Given the description of an element on the screen output the (x, y) to click on. 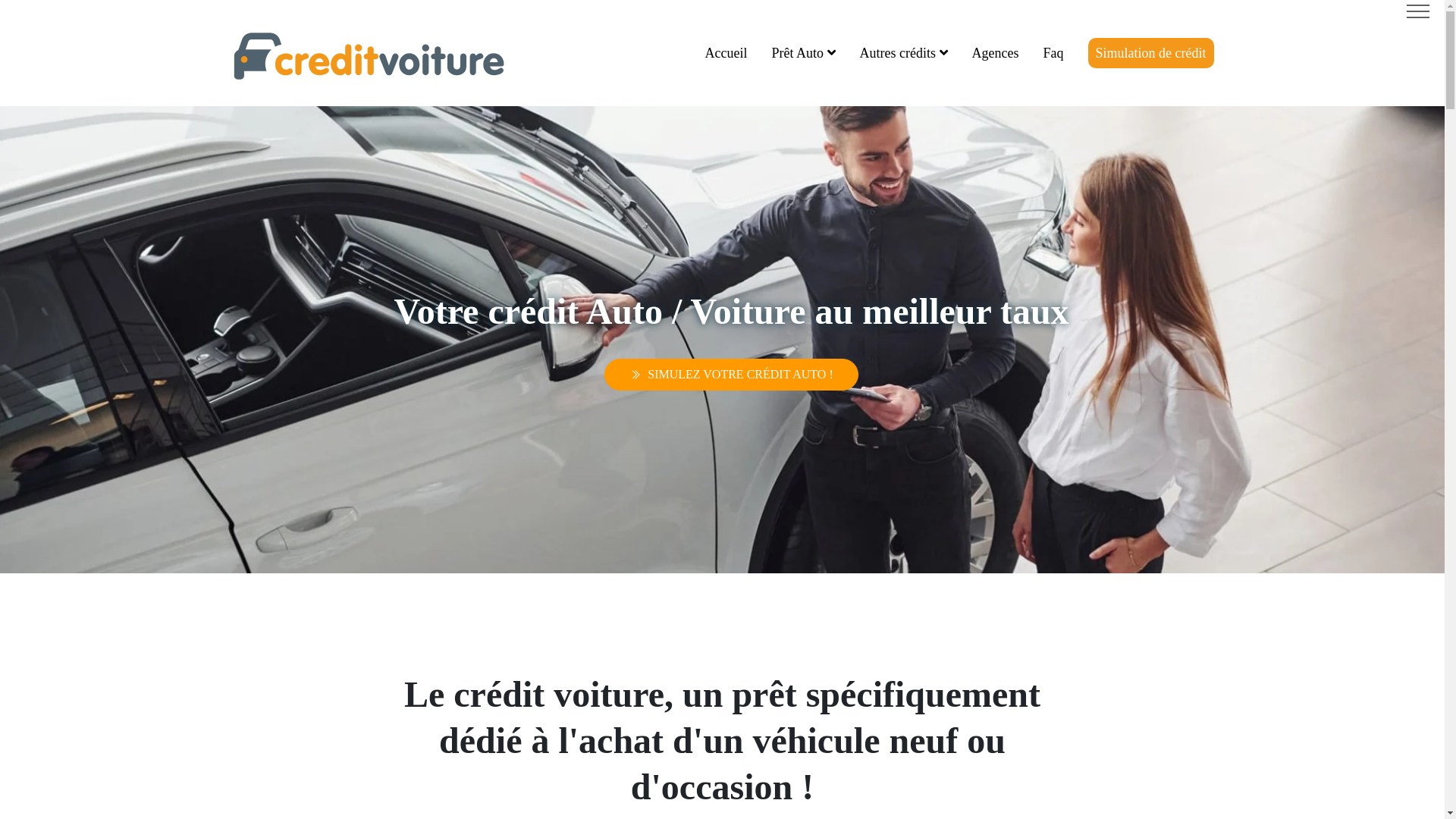
Faq Element type: text (1053, 52)
Accueil Element type: text (726, 52)
Agences Element type: text (995, 52)
